Given the description of an element on the screen output the (x, y) to click on. 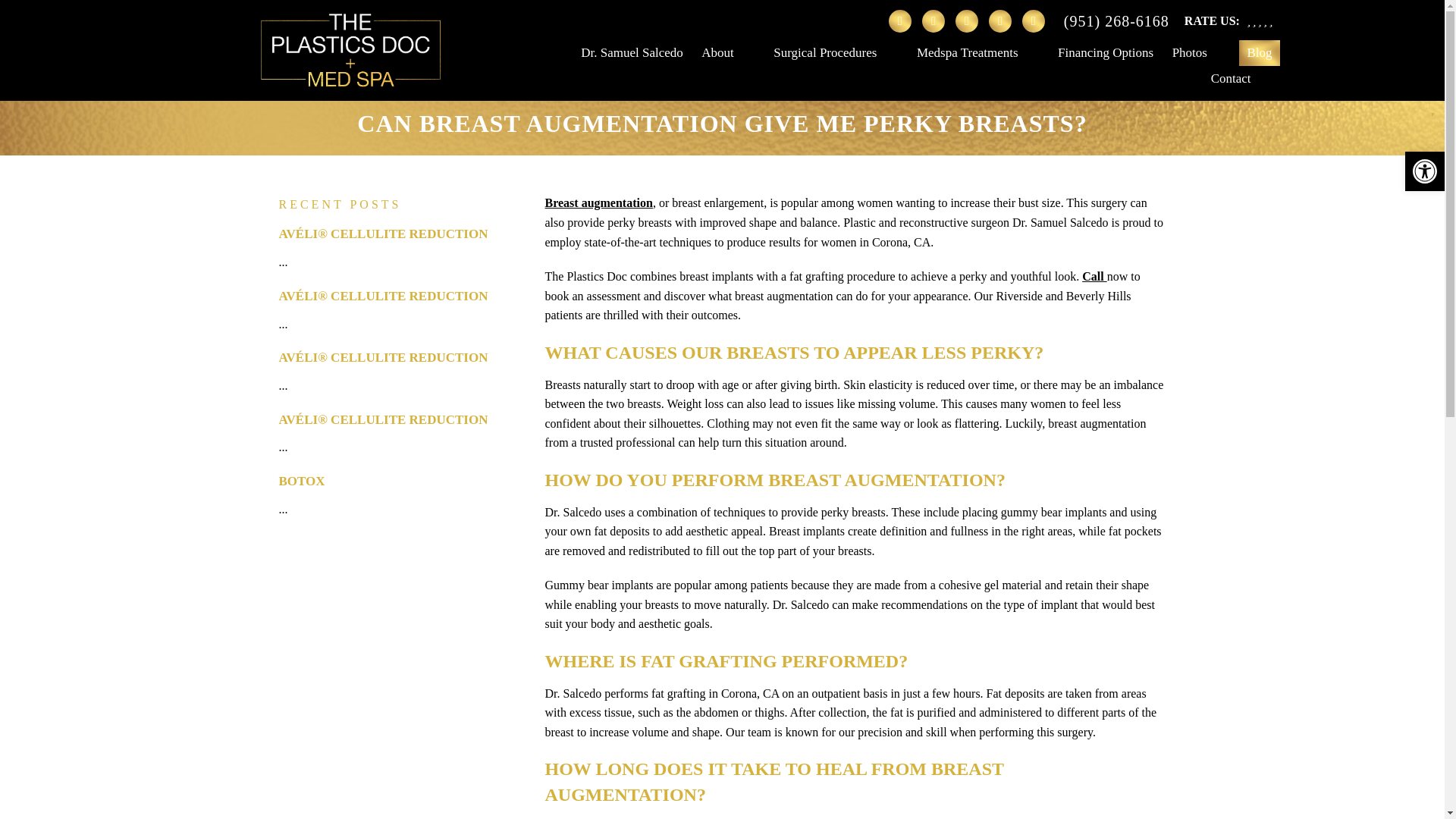
Breast augmentation (598, 202)
Surgical Procedures (835, 53)
Accessibility Tools (1424, 170)
Call  (1093, 276)
About (728, 53)
Dr. Samuel Salcedo (631, 53)
